Given the description of an element on the screen output the (x, y) to click on. 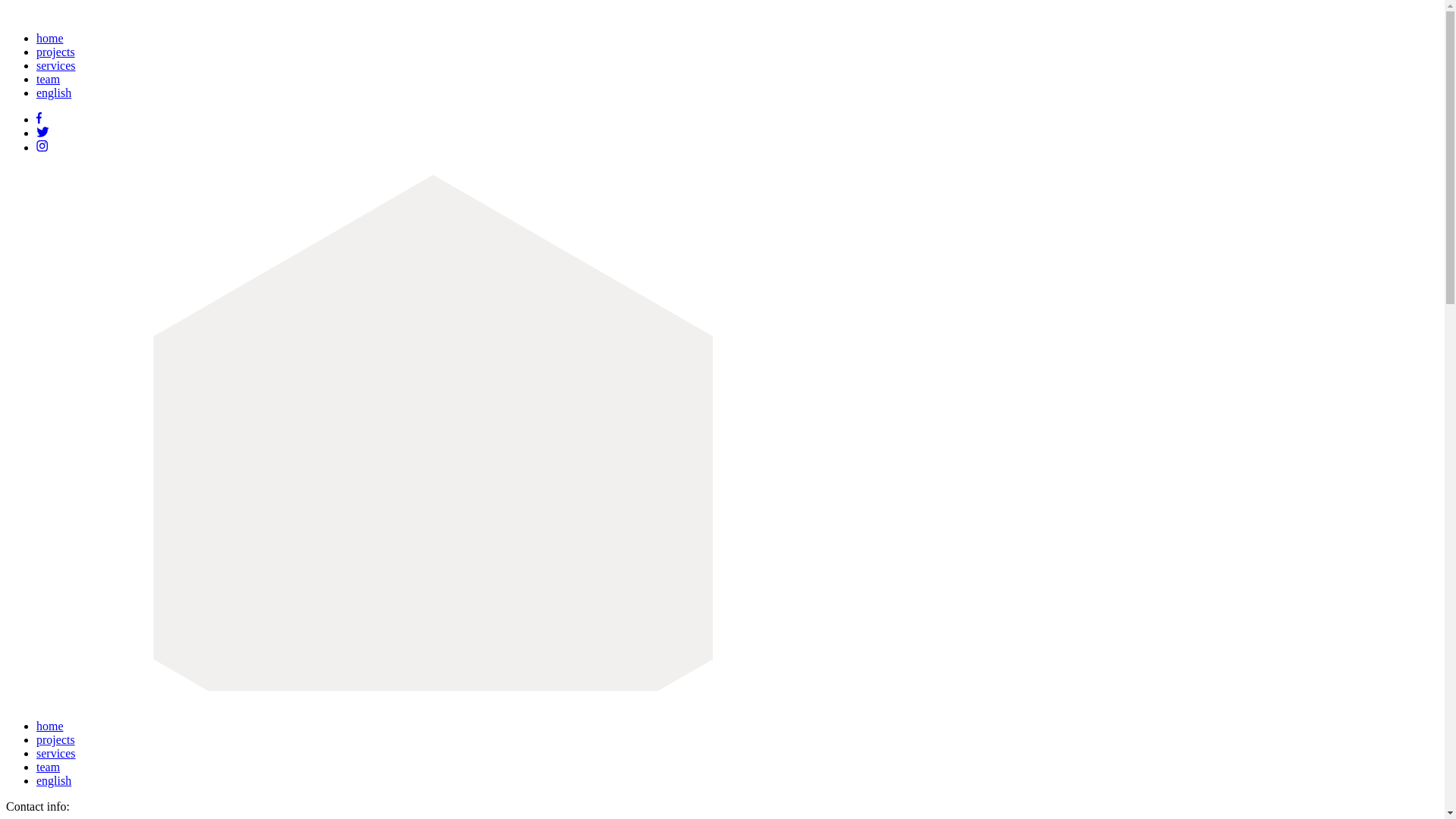
team Element type: text (47, 766)
services Element type: text (55, 752)
english Element type: text (53, 92)
english Element type: text (53, 780)
home Element type: text (49, 725)
services Element type: text (55, 65)
projects Element type: text (55, 51)
projects Element type: text (55, 739)
team Element type: text (47, 78)
home Element type: text (49, 37)
